Given the description of an element on the screen output the (x, y) to click on. 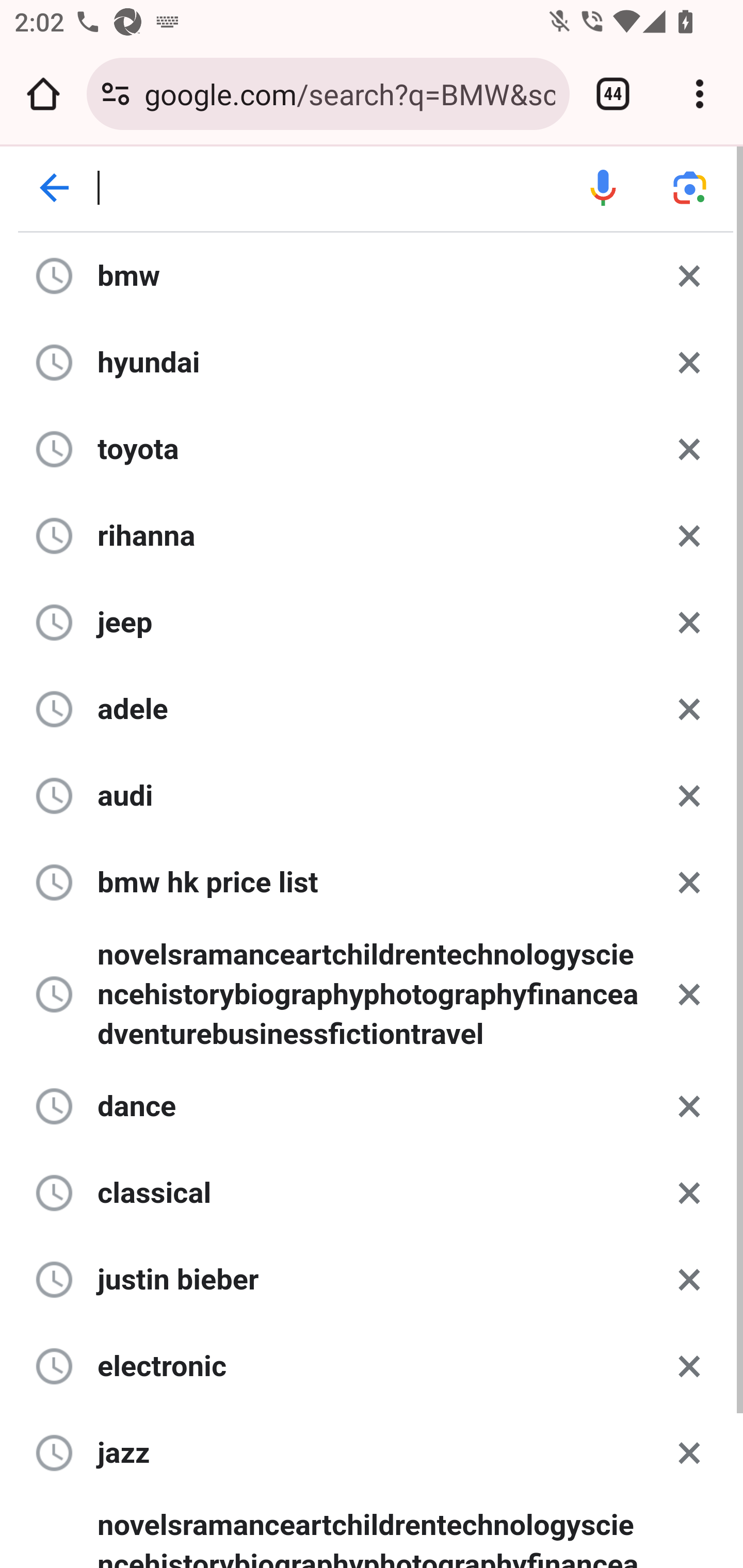
Open the home page (43, 93)
Connection is secure (115, 93)
Switch or close tabs (612, 93)
Customize and control Google Chrome (699, 93)
Back (54, 188)
Search using your camera or photos (690, 188)
Delete (689, 274)
Delete (689, 362)
Delete (689, 448)
Delete (689, 534)
Delete (689, 621)
Delete (689, 708)
Delete (689, 794)
Delete (689, 881)
Delete (689, 993)
Delete (689, 1105)
Delete (689, 1191)
Delete (689, 1279)
Delete (689, 1365)
Delete (689, 1451)
